Given the description of an element on the screen output the (x, y) to click on. 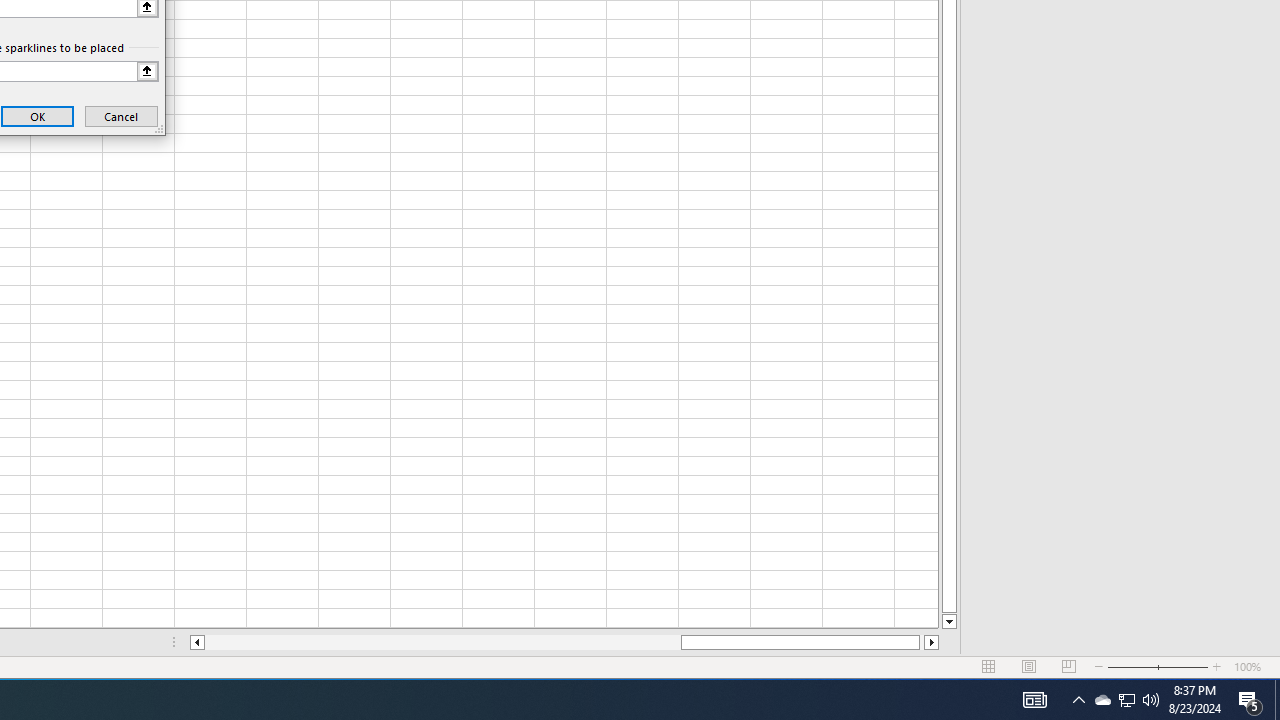
Q2790: 100% (1151, 699)
AutomationID: 4105 (1034, 699)
Show desktop (1277, 699)
